Given the description of an element on the screen output the (x, y) to click on. 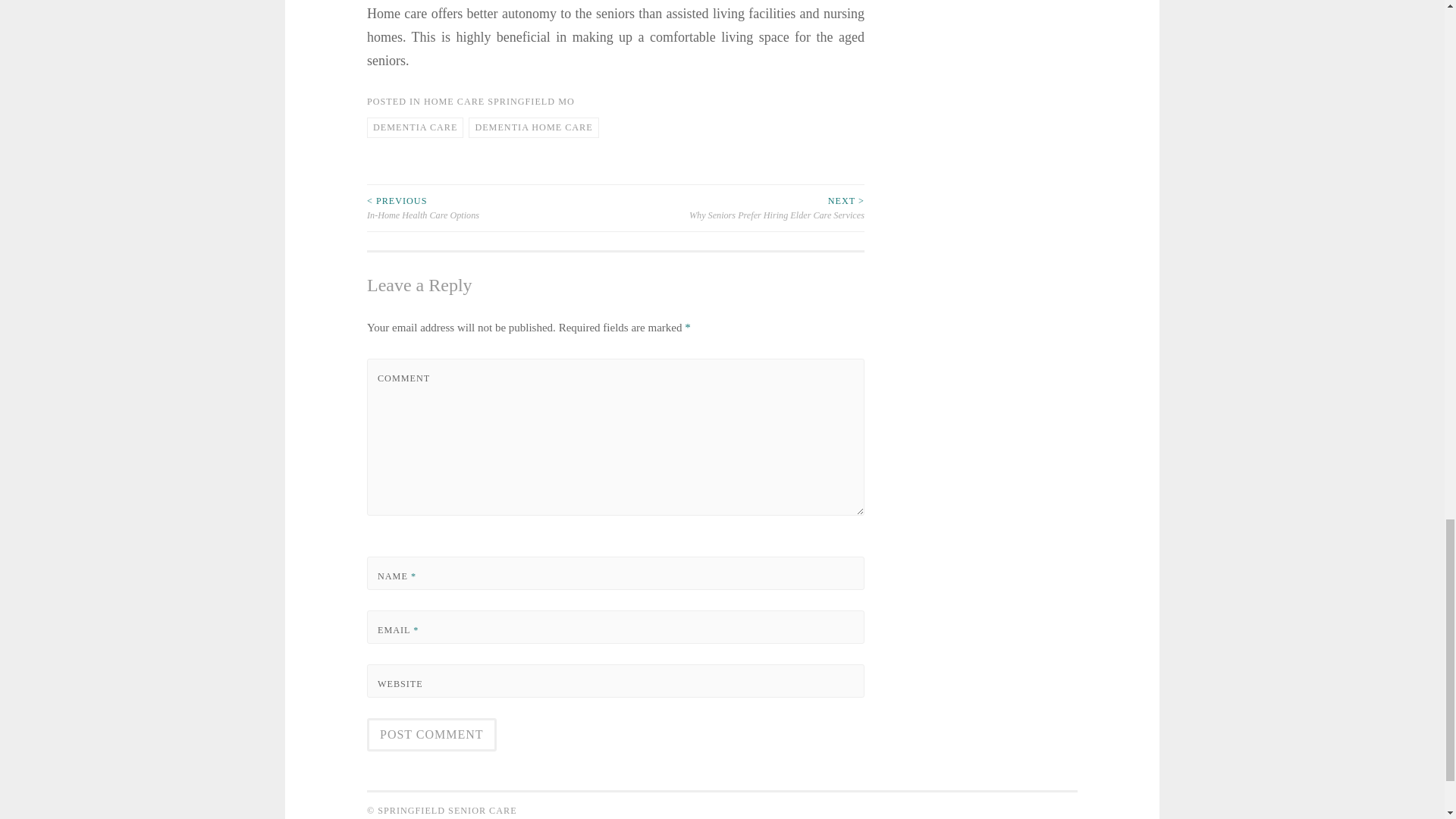
DEMENTIA CARE (414, 127)
Post Comment (431, 734)
Post Comment (431, 734)
HOME CARE SPRINGFIELD MO (499, 101)
DEMENTIA HOME CARE (533, 127)
